Given the description of an element on the screen output the (x, y) to click on. 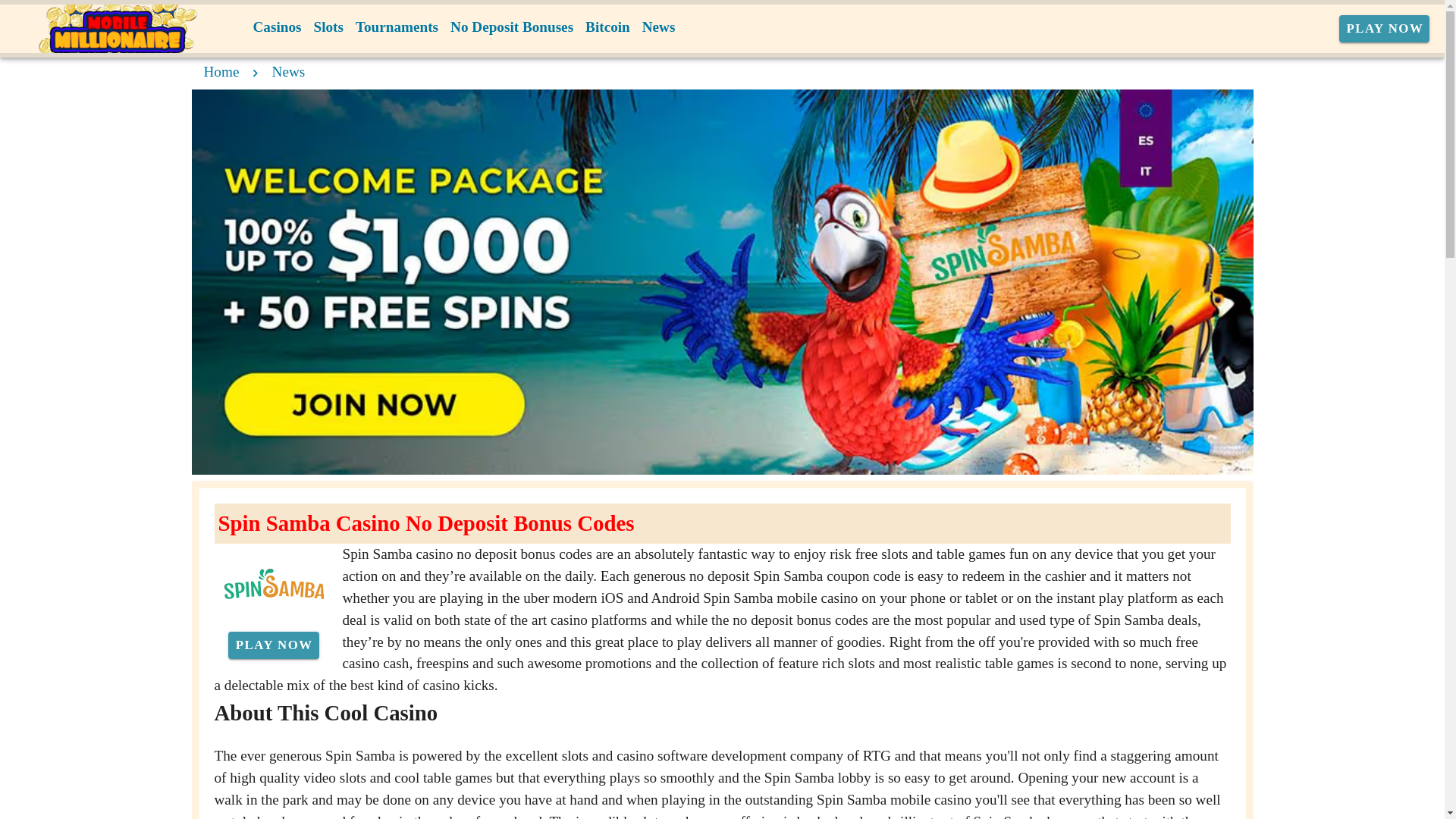
News (658, 27)
Bitcoin (607, 27)
PLAY NOW (273, 645)
PLAY NOW (1384, 28)
Slots (328, 27)
Tournaments (396, 27)
Casinos (277, 27)
Home (220, 71)
No Deposit Bonuses (511, 27)
News (288, 71)
